Given the description of an element on the screen output the (x, y) to click on. 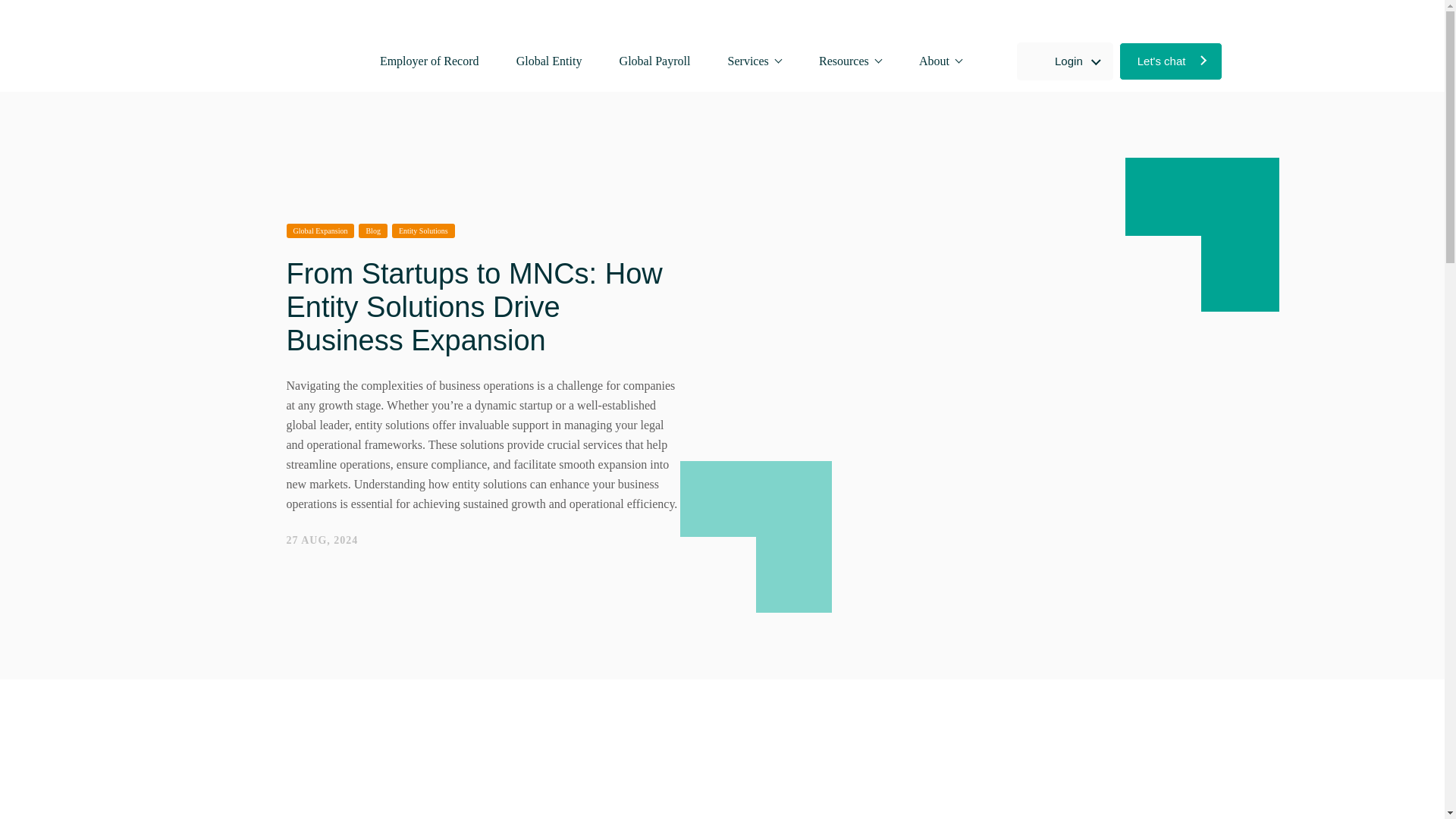
Let's chat (1171, 61)
Resources (850, 61)
Global Entity (549, 61)
Employer of Record (429, 61)
Global Payroll (655, 61)
Login (1064, 61)
